Given the description of an element on the screen output the (x, y) to click on. 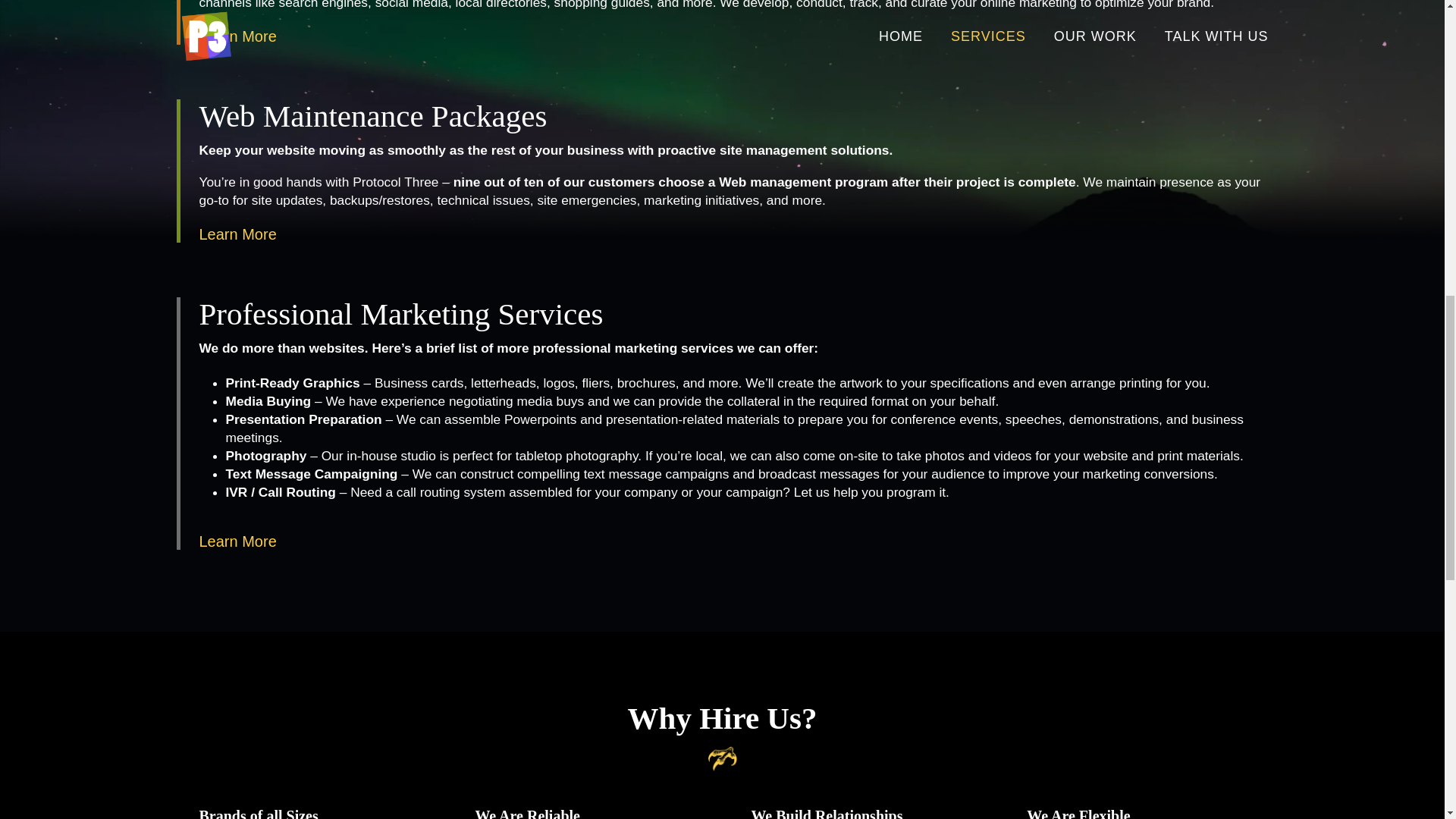
Learn More (237, 234)
Web Maintenance Packages (372, 115)
Professional Marketing Services (400, 313)
Learn More (237, 36)
Learn More (237, 541)
